Given the description of an element on the screen output the (x, y) to click on. 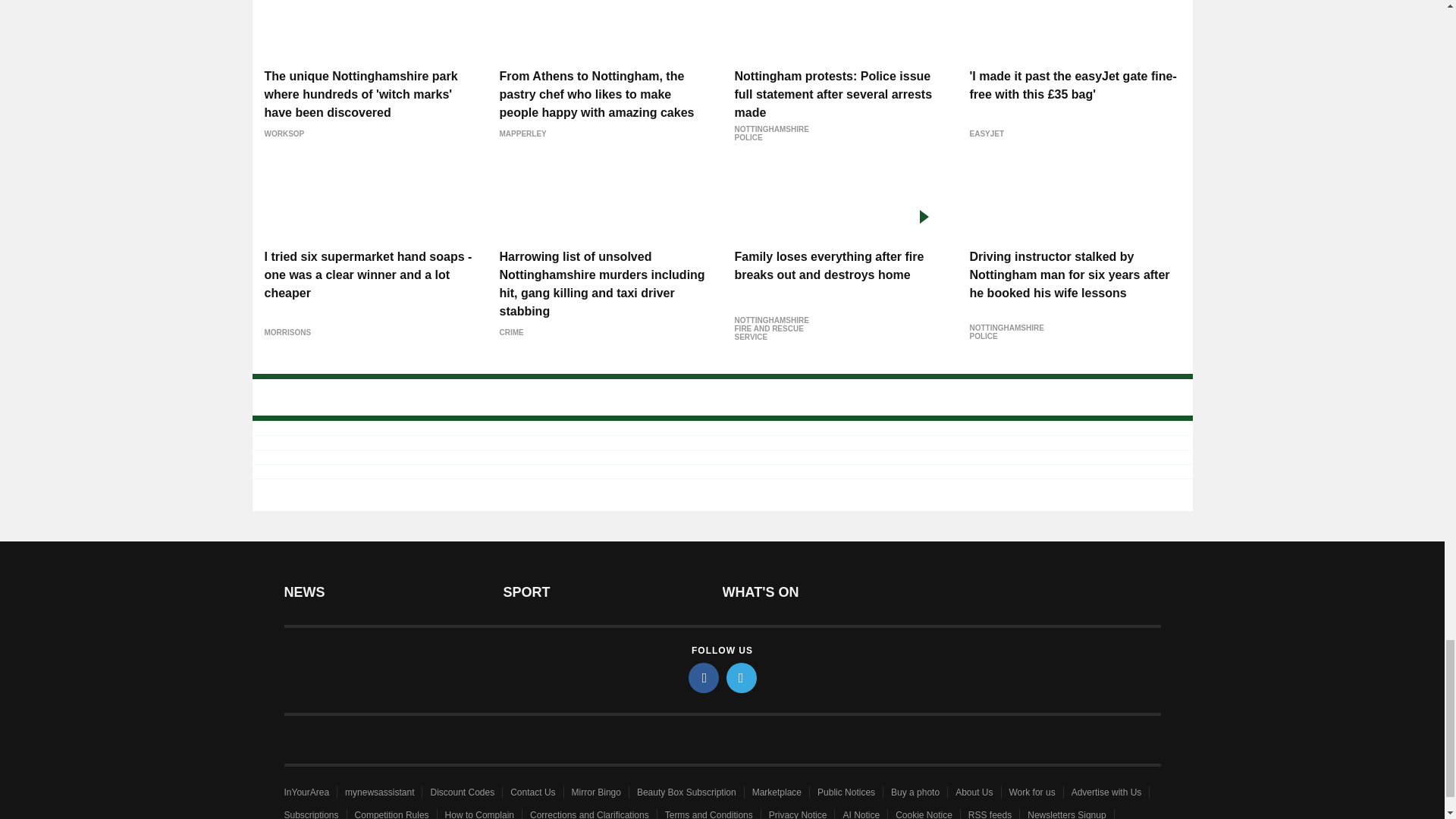
twitter (741, 677)
facebook (703, 677)
